Given the description of an element on the screen output the (x, y) to click on. 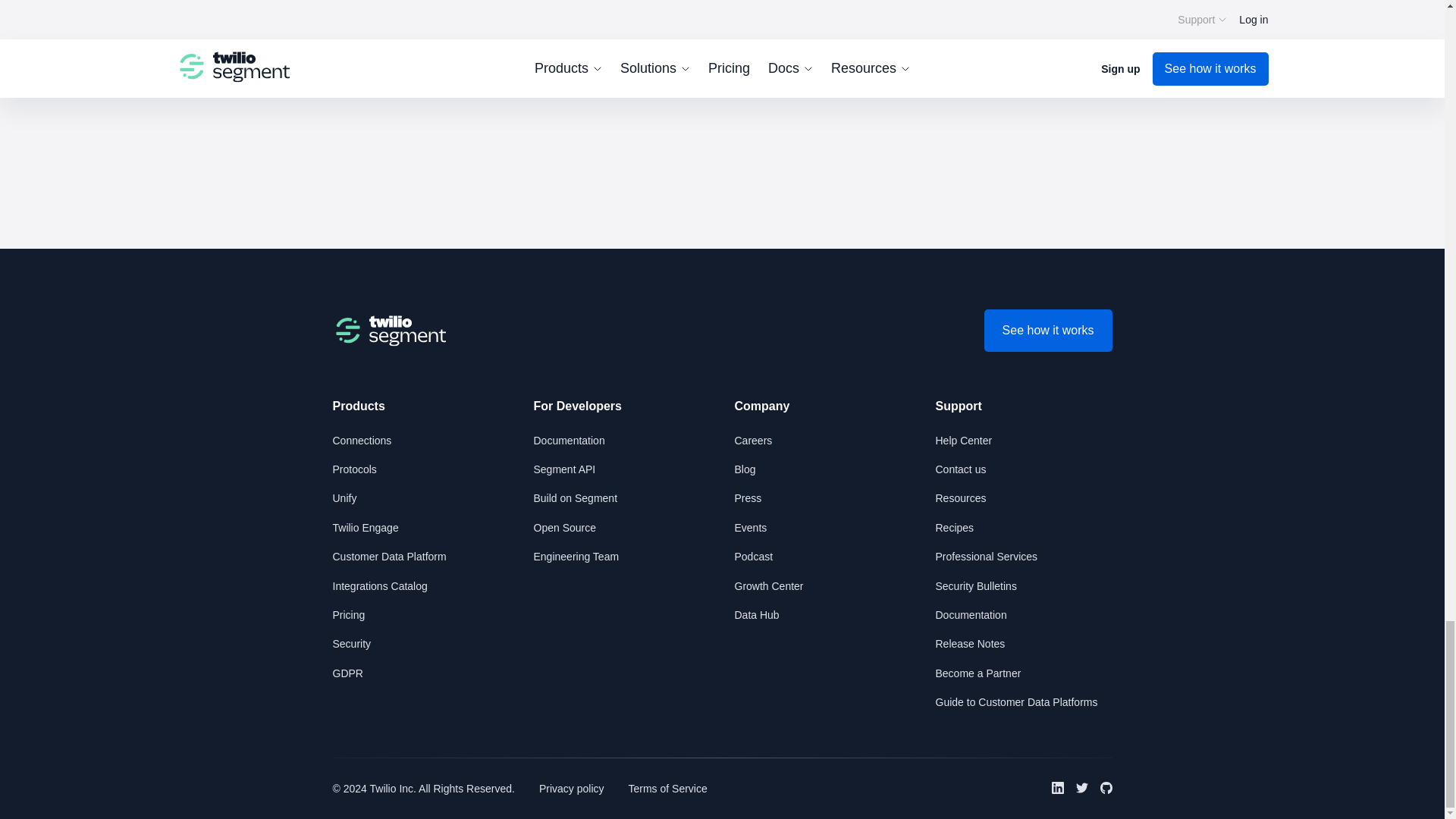
See how it works (1048, 330)
Connections (361, 440)
Customer Data Platform (388, 556)
Twilio Engage (364, 527)
Protocols (353, 469)
Documentation (569, 440)
Engineering Team (577, 556)
GDPR (346, 673)
Integrations Catalog (378, 585)
Pricing (348, 614)
